Given the description of an element on the screen output the (x, y) to click on. 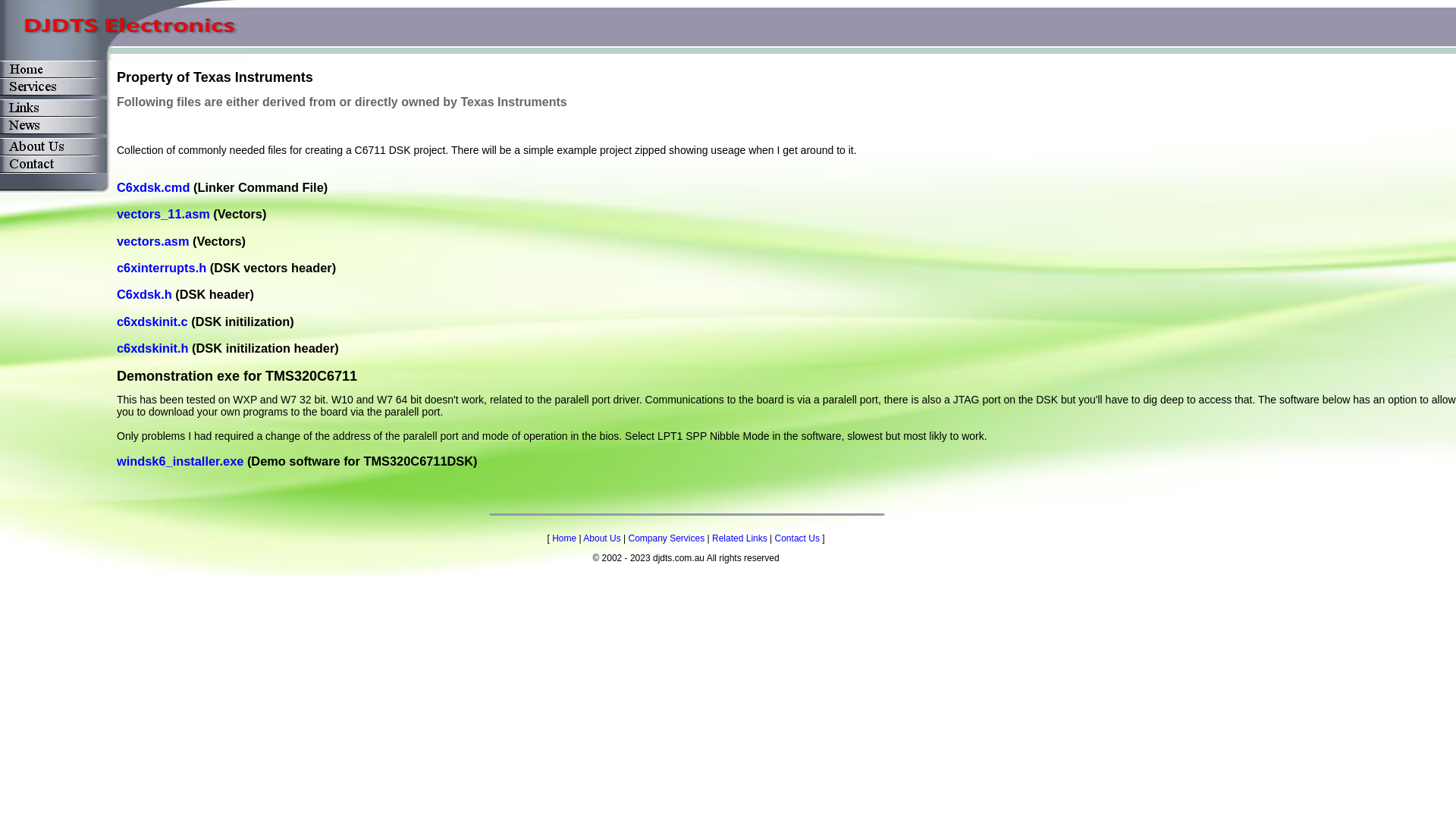
c6xdskinit.c Element type: text (153, 321)
Contact Us Element type: text (797, 538)
c6xdskinit.h Element type: text (153, 347)
vectors_11.asm Element type: text (164, 213)
Company Services Element type: text (665, 538)
About Us Element type: text (601, 538)
C6xdsk.cmd Element type: text (154, 187)
windsk6_installer.exe Element type: text (181, 460)
Home Element type: text (564, 538)
C6xdsk.h Element type: text (145, 294)
c6xinterrupts.h Element type: text (163, 267)
vectors.asm Element type: text (154, 240)
Related Links Element type: text (739, 538)
